Given the description of an element on the screen output the (x, y) to click on. 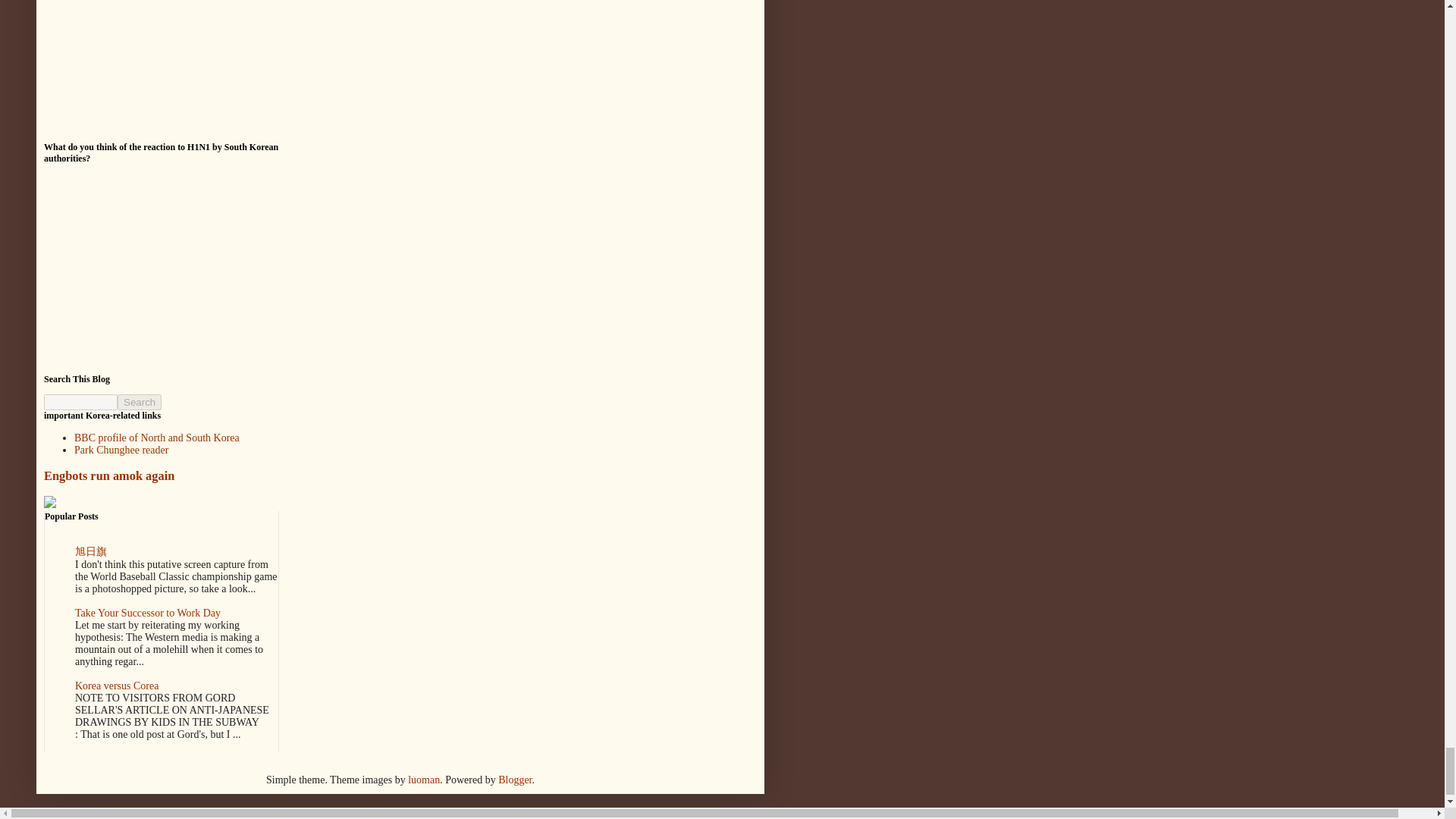
Search (139, 401)
search (80, 401)
Search (139, 401)
search (139, 401)
